Given the description of an element on the screen output the (x, y) to click on. 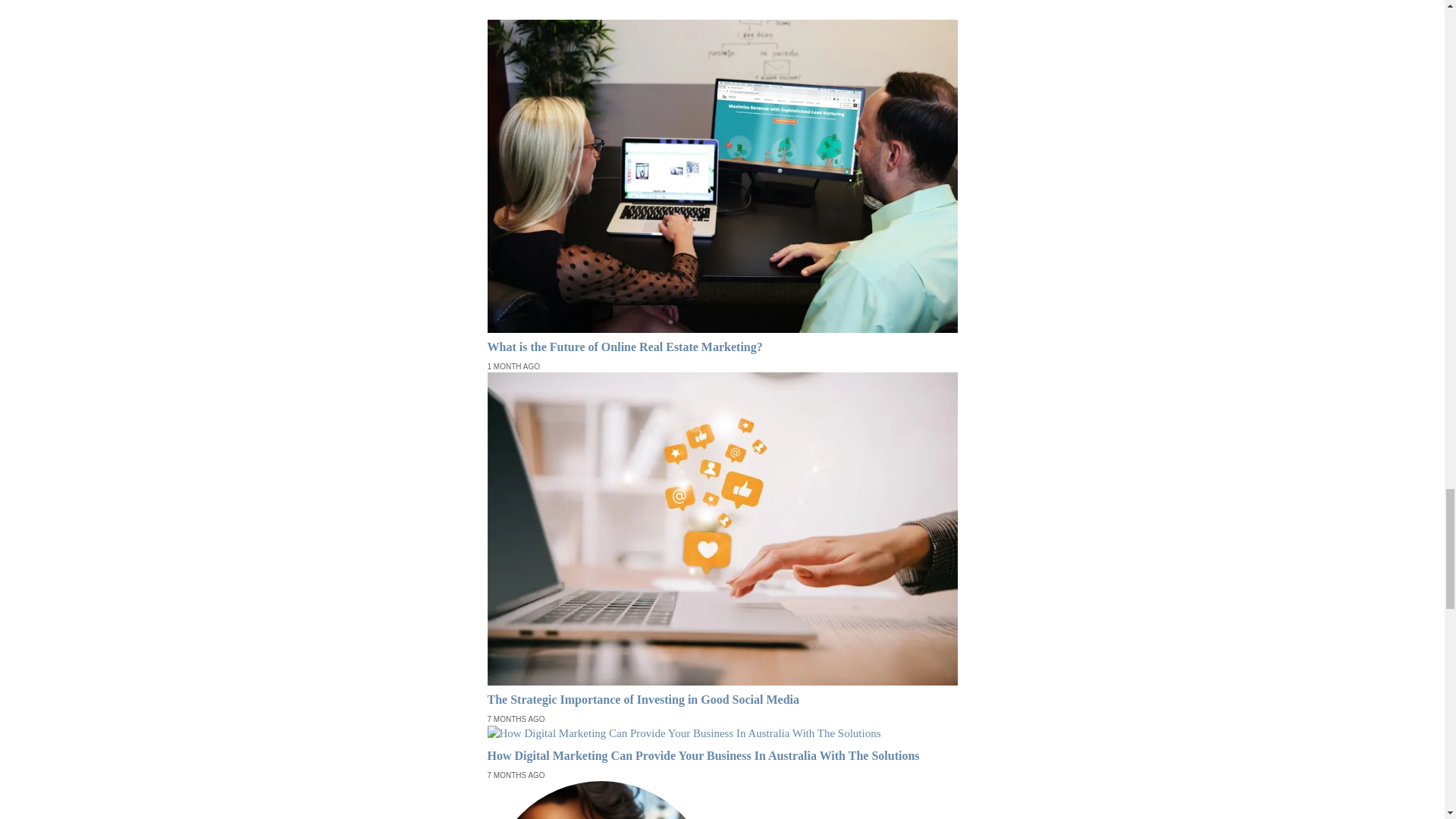
27 Jun, 2024 10:20:50 (512, 366)
23 Dec, 2023 22:00:08 (515, 775)
09 Jan, 2024 00:51:22 (515, 719)
